Given the description of an element on the screen output the (x, y) to click on. 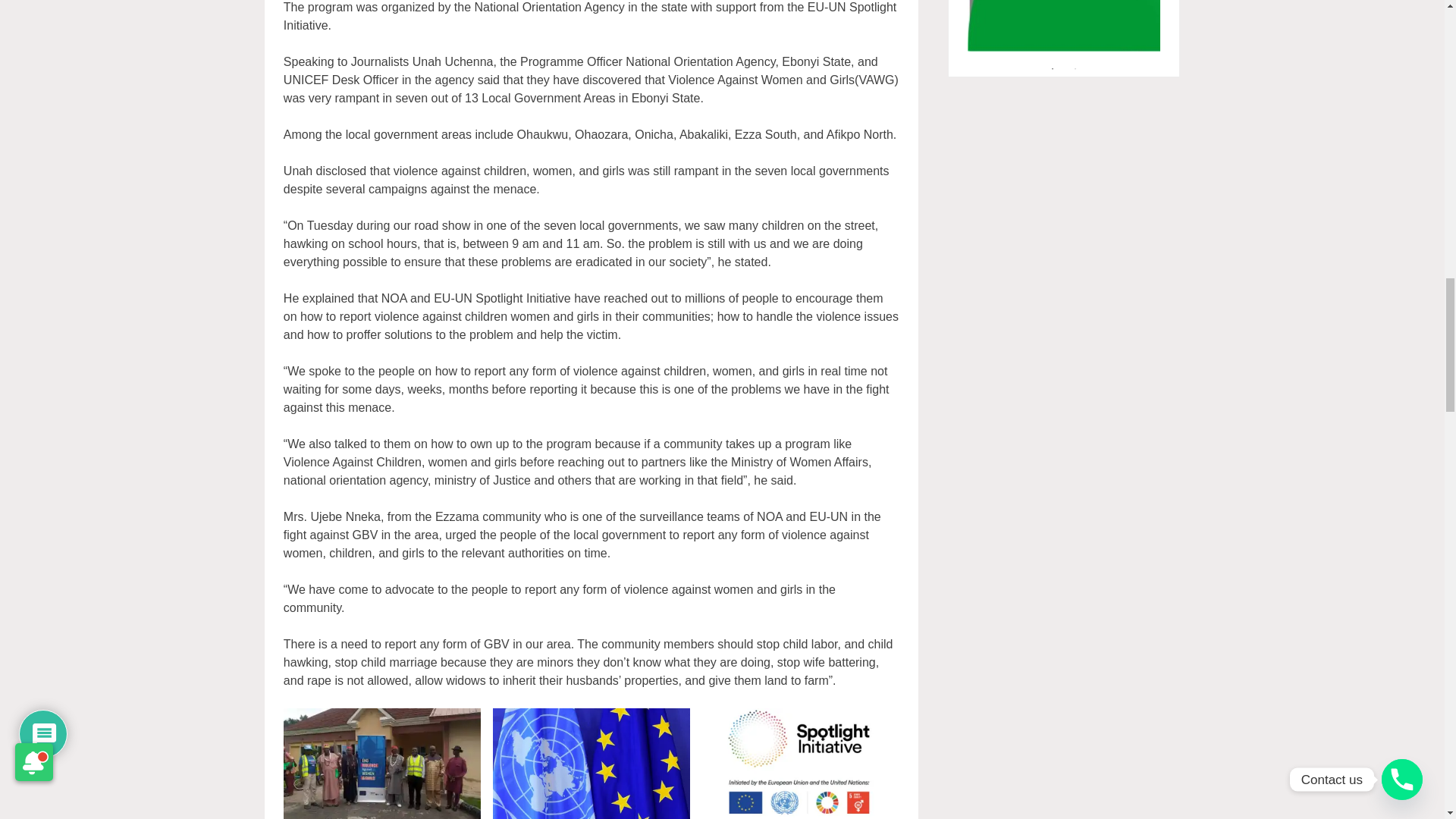
Spotlight: EU-UN trains 346 peer educators in Ebonyi (800, 763)
Addressing GBV: UNICEF Dialogues With Ebonyi Community (381, 763)
